Given the description of an element on the screen output the (x, y) to click on. 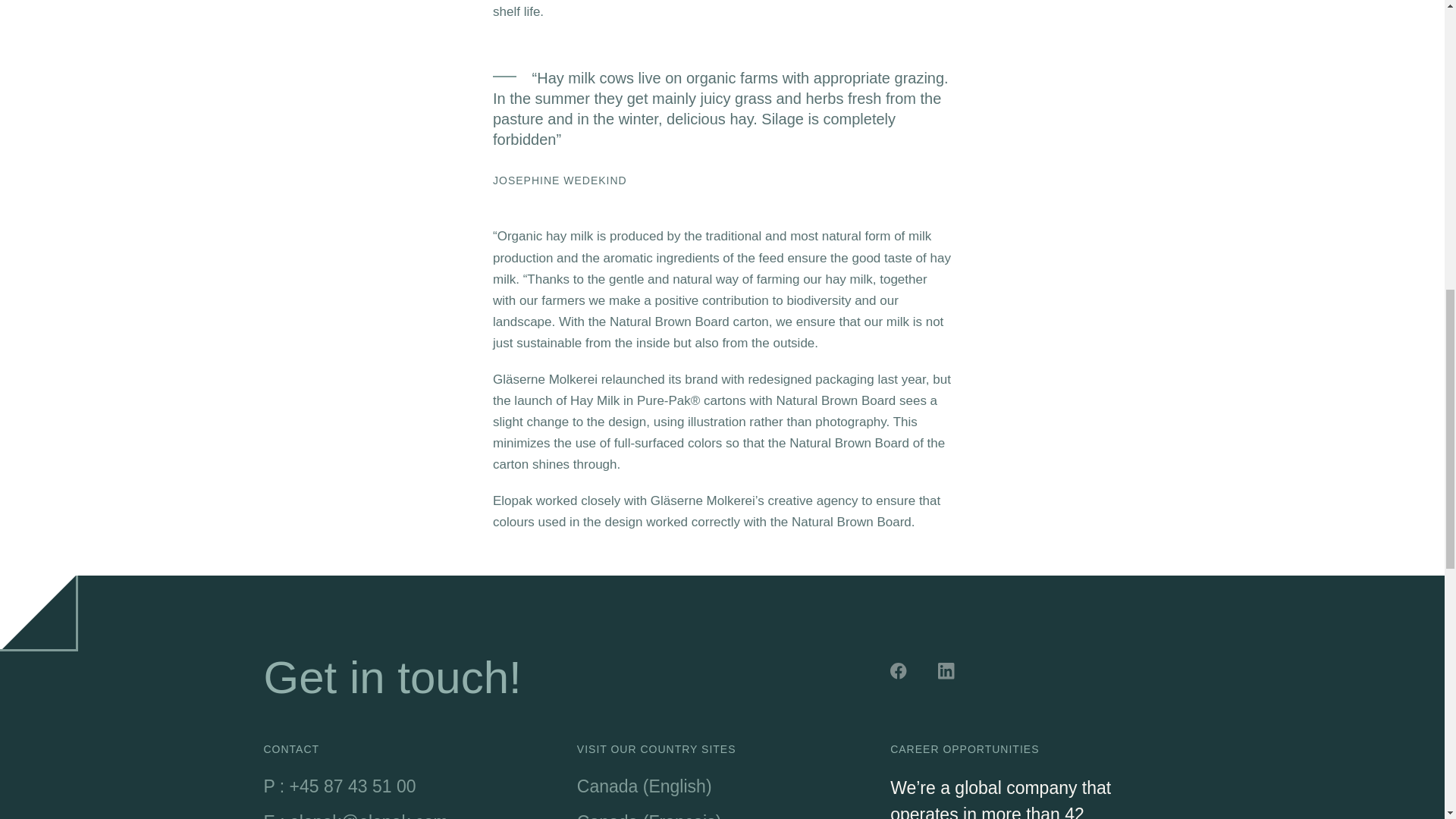
Facebook-icon (900, 672)
LinkedIn (948, 672)
